Given the description of an element on the screen output the (x, y) to click on. 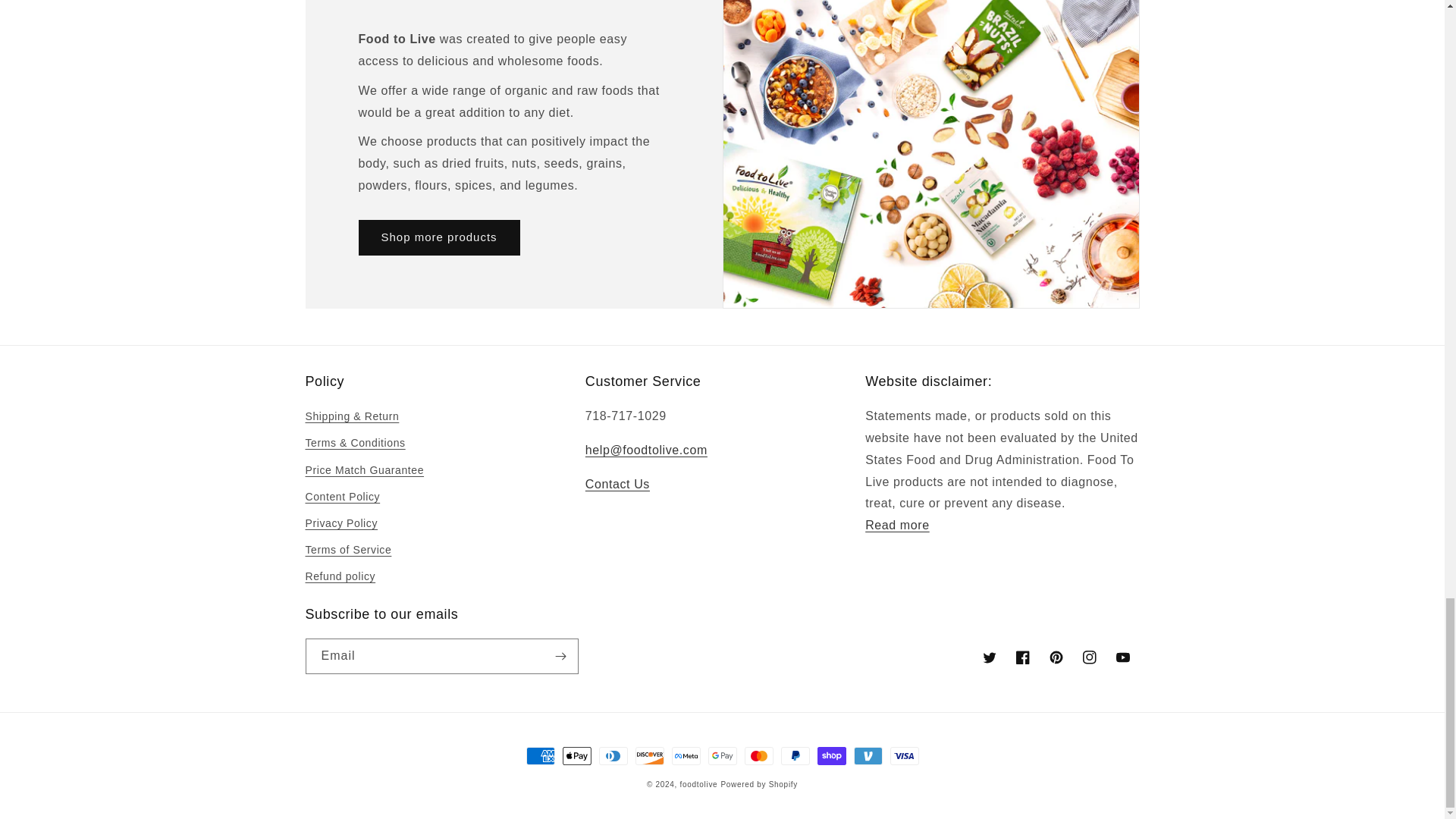
Contact (617, 483)
Privacy Policy (897, 524)
